Given the description of an element on the screen output the (x, y) to click on. 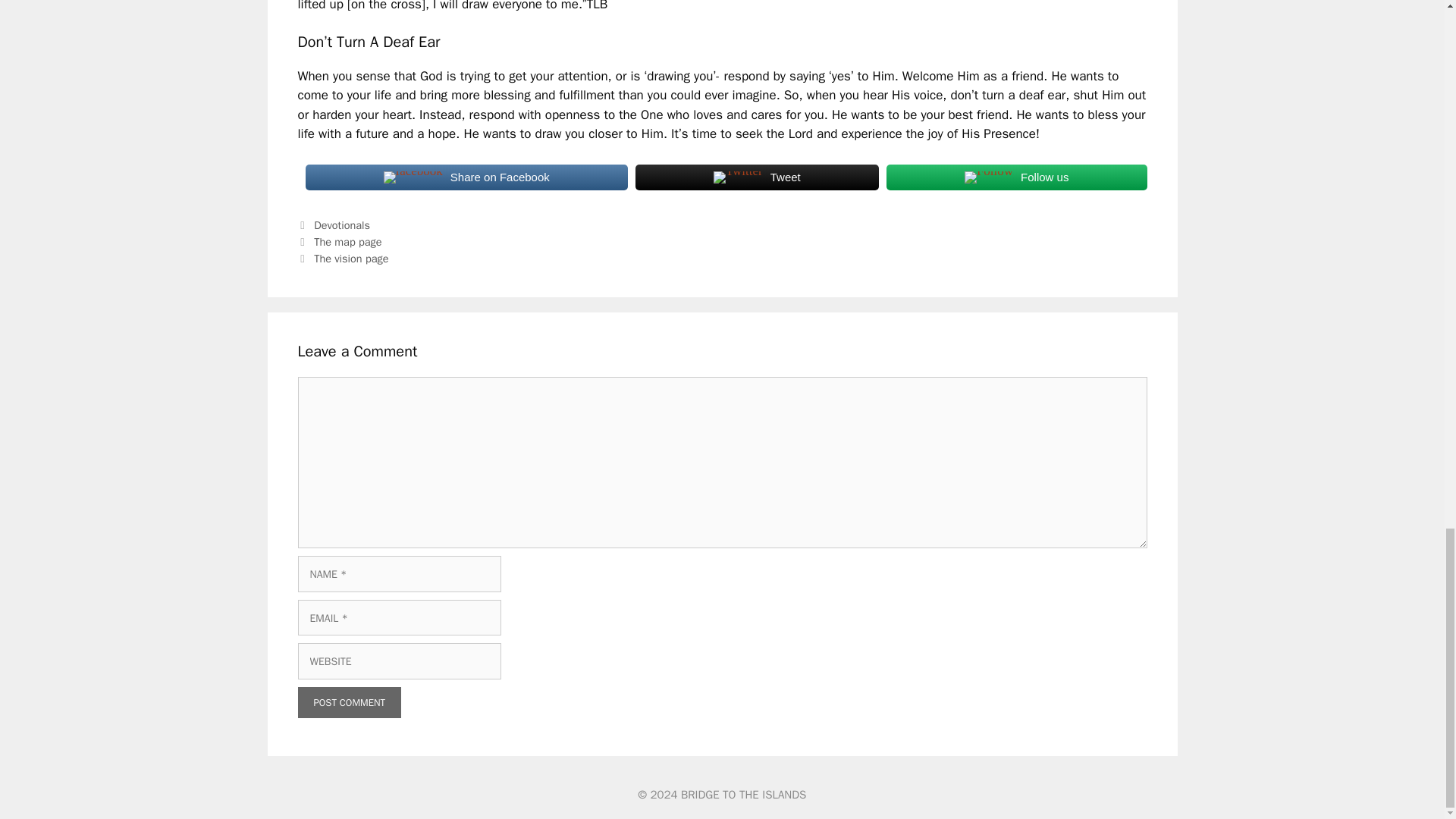
Follow us (1016, 176)
Post Comment (349, 703)
The map page (347, 241)
Devotionals (341, 224)
Tweet (756, 176)
Share on Facebook (465, 176)
Post Comment (349, 703)
Previous (339, 241)
The vision page (351, 258)
Next (342, 258)
